Given the description of an element on the screen output the (x, y) to click on. 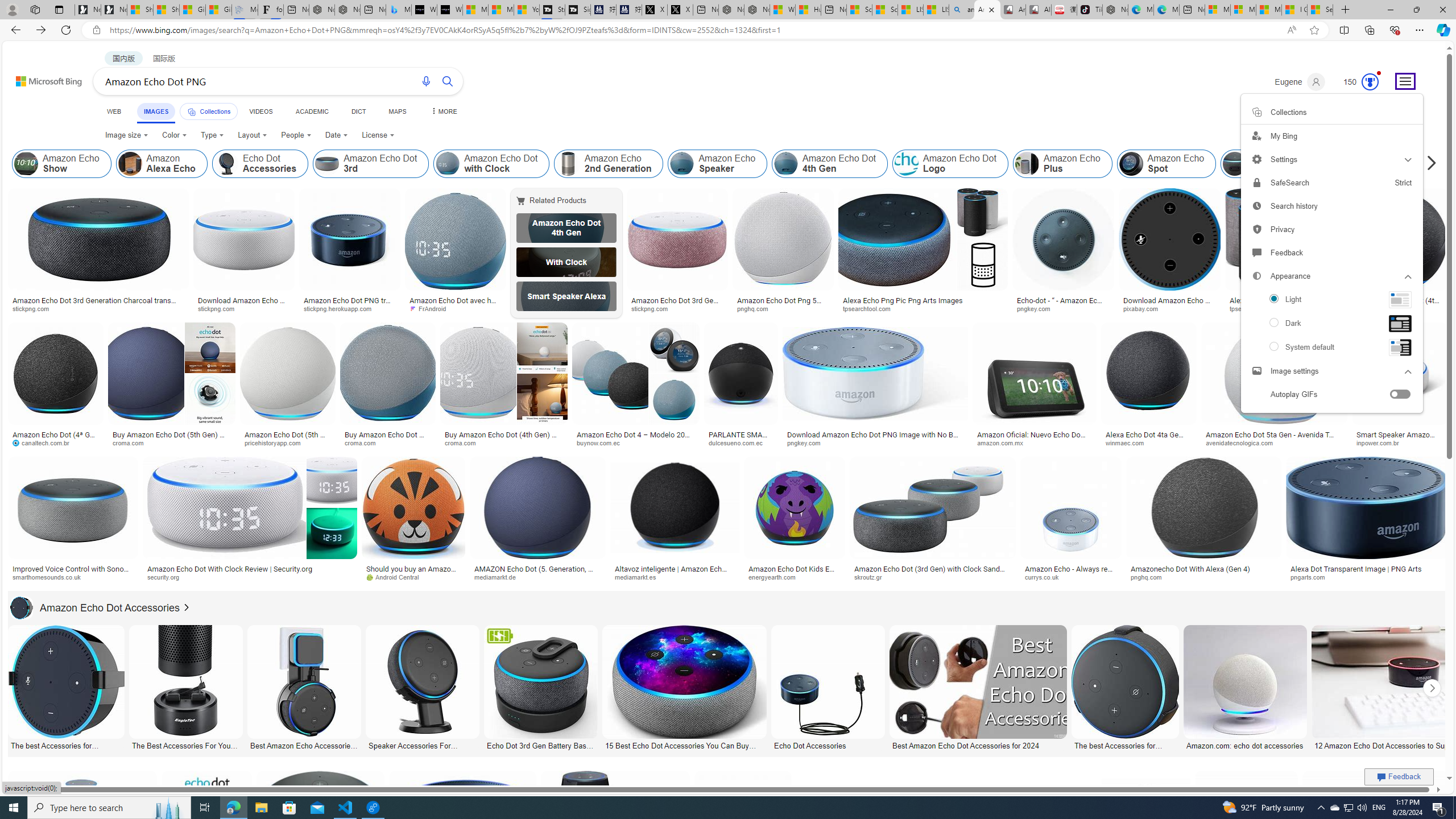
IMAGES (156, 112)
pnghq.com (1203, 576)
buynow.com.ec (601, 442)
Back to Bing search (41, 78)
Amazon Echo Dot Logo (949, 163)
Alexa Echo Png Pic Png Arts Imagestpsearchtool.comSave (924, 252)
Echo Dot Generations (1355, 163)
Autoplay GIFs (1331, 394)
